Given the description of an element on the screen output the (x, y) to click on. 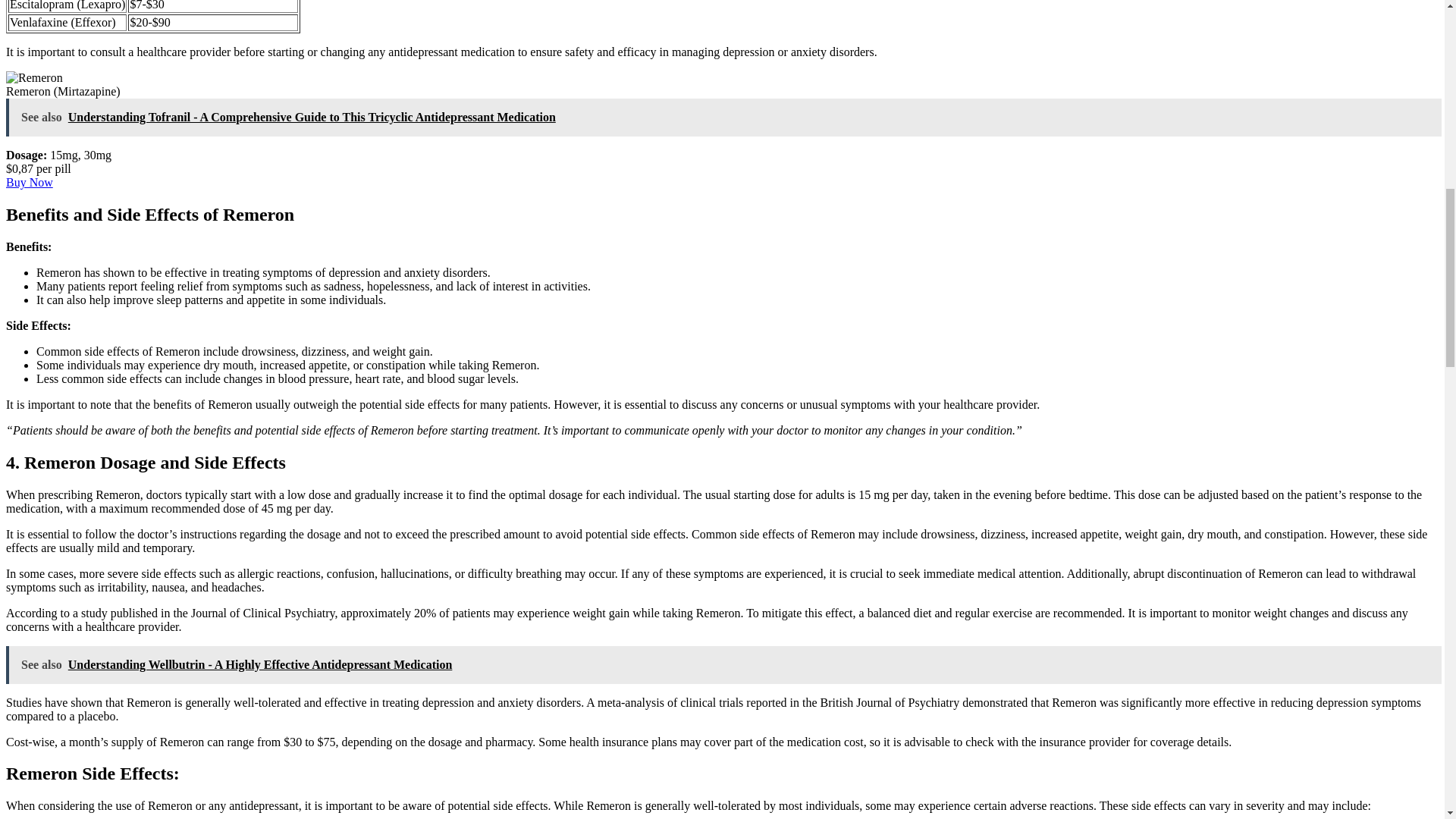
Buy Now (28, 182)
